Given the description of an element on the screen output the (x, y) to click on. 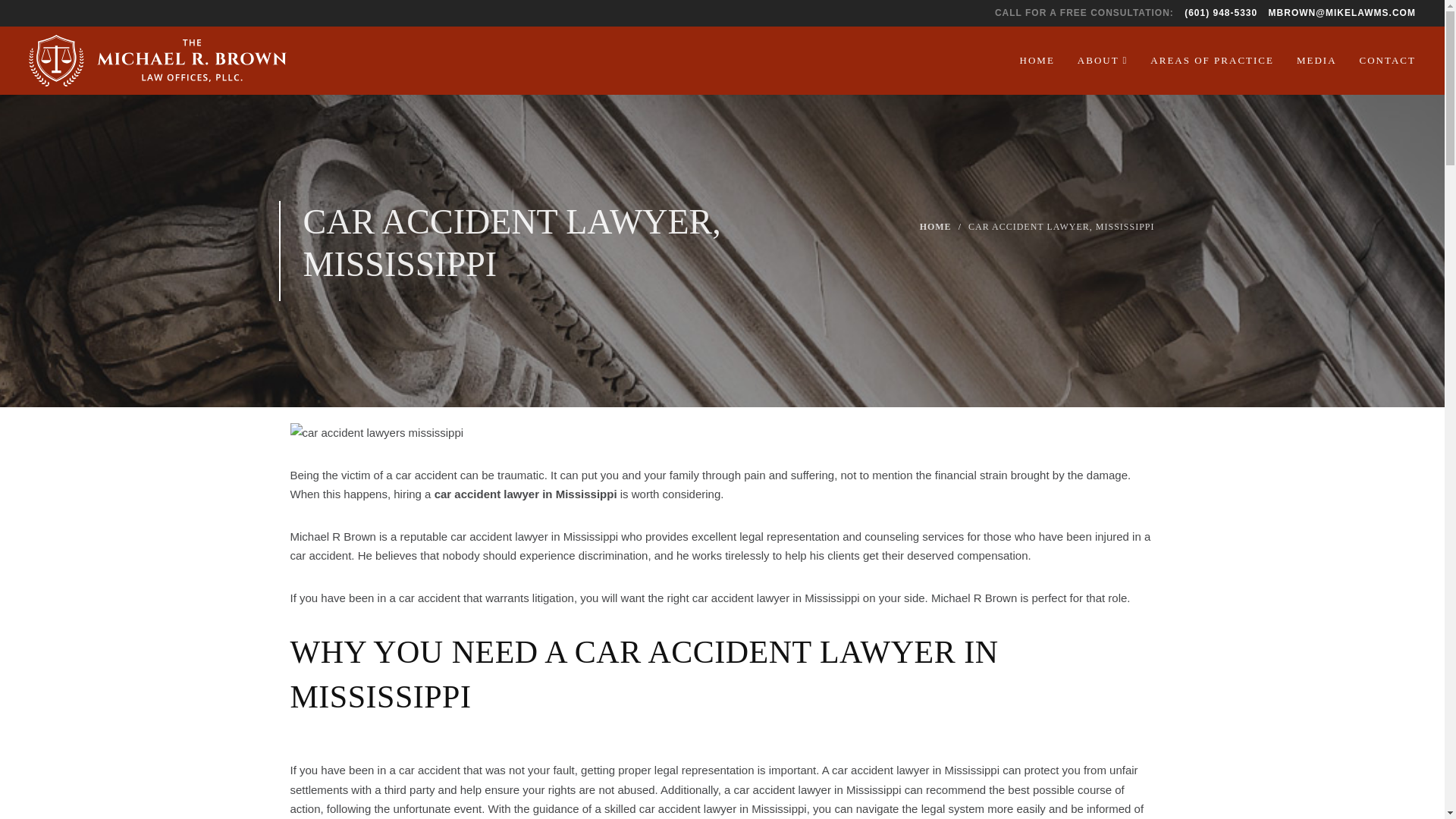
Michael R. Brown Law Offices (74, 60)
HOME (936, 227)
AREAS OF PRACTICE (1212, 60)
